Given the description of an element on the screen output the (x, y) to click on. 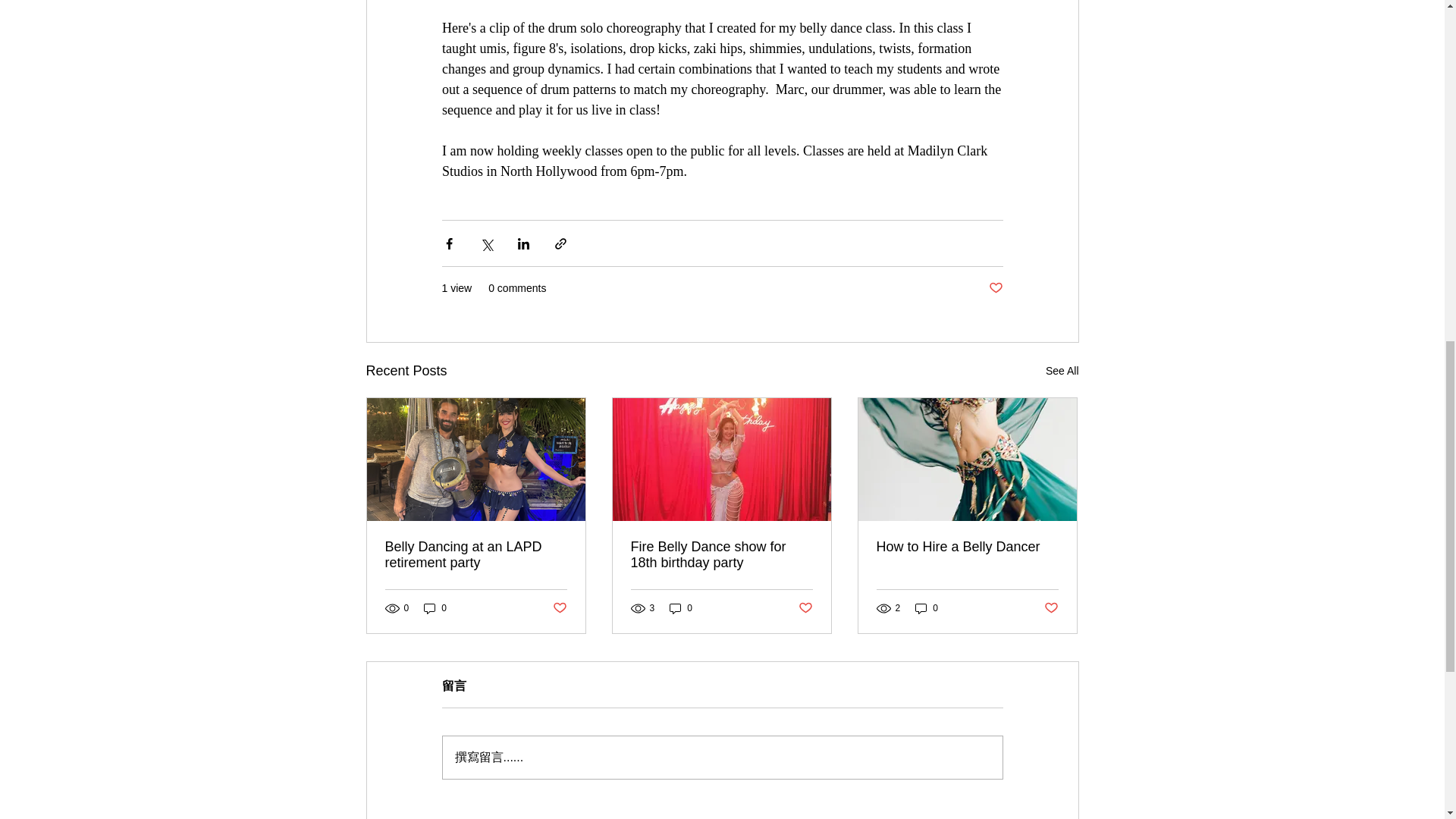
See All (1061, 371)
Post not marked as liked (1050, 608)
Post not marked as liked (804, 608)
Belly Dancing at an LAPD retirement party (476, 554)
0 (435, 608)
0 (681, 608)
0 (926, 608)
Post not marked as liked (995, 288)
Post not marked as liked (558, 608)
How to Hire a Belly Dancer (967, 546)
Fire Belly Dance show for 18th birthday party (721, 554)
